Given the description of an element on the screen output the (x, y) to click on. 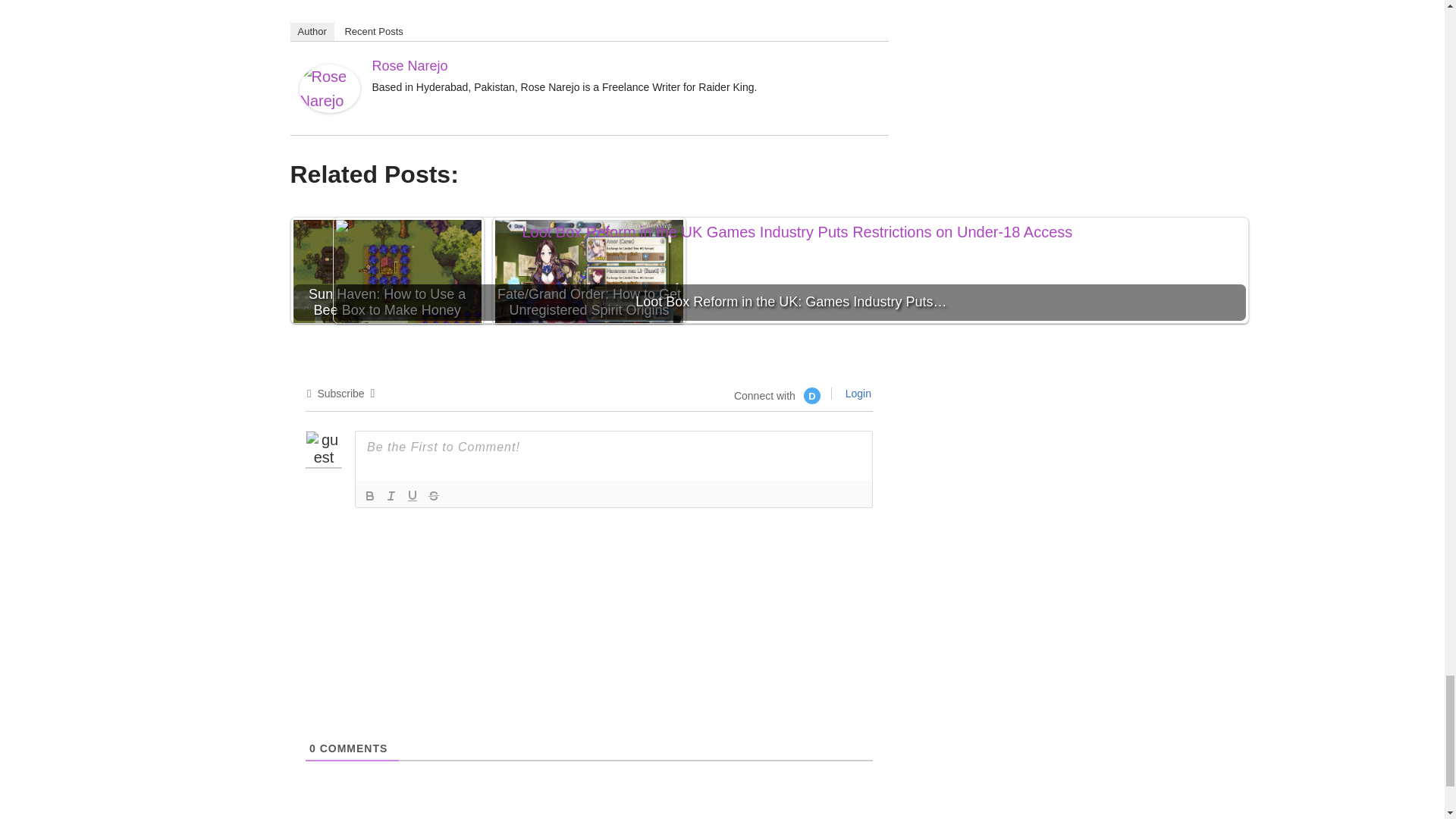
Underline (412, 495)
Italic (390, 495)
Rose Narejo (328, 107)
Bold (369, 495)
Sun Haven: How to Use a Bee Box to Make Honey (386, 272)
Strike (433, 495)
